Given the description of an element on the screen output the (x, y) to click on. 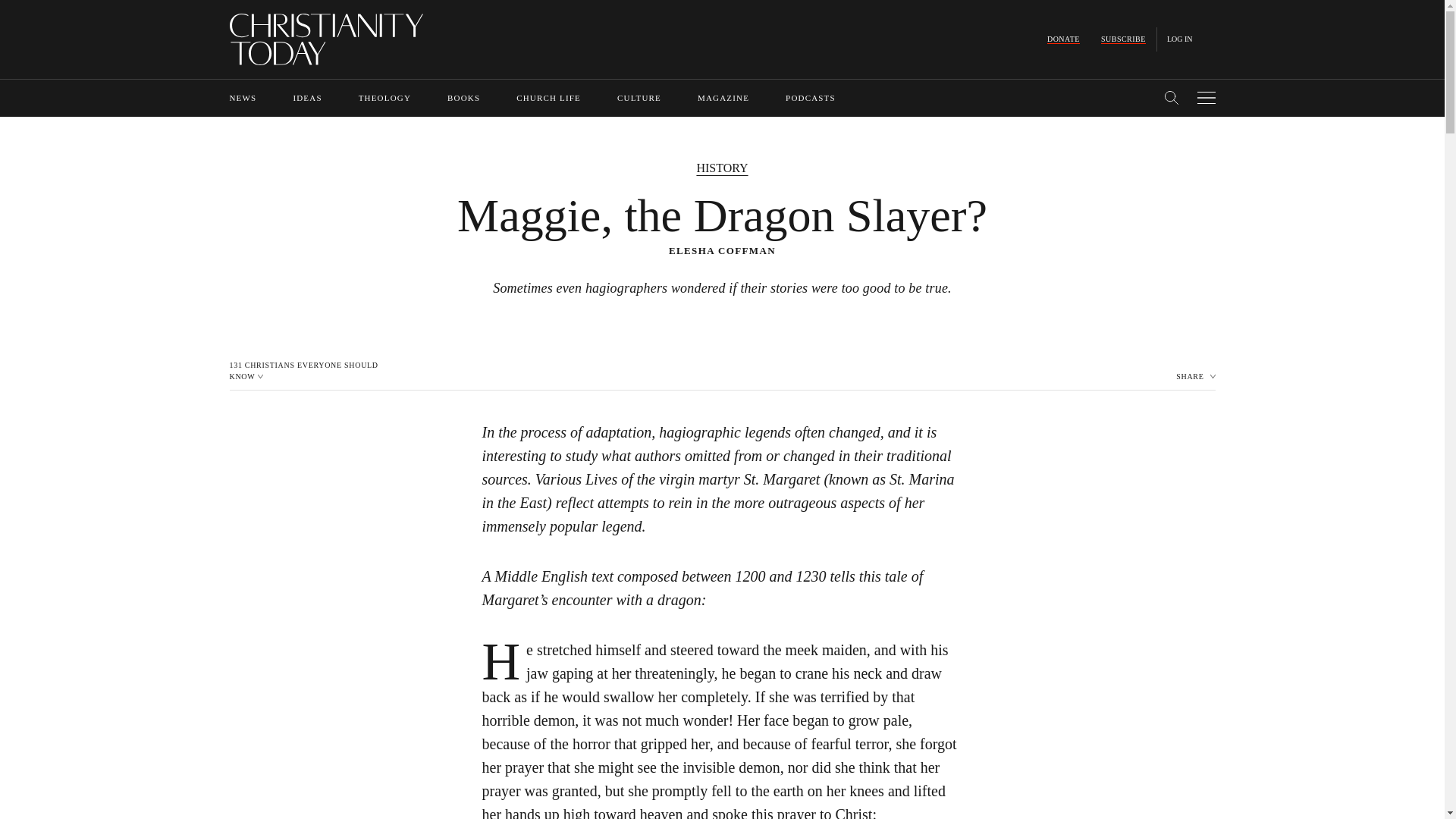
PODCASTS (810, 97)
SUBSCRIBE (1122, 39)
LOG IN (1179, 39)
CHURCH LIFE (548, 97)
MAGAZINE (723, 97)
BOOKS (463, 97)
IDEAS (306, 97)
THEOLOGY (384, 97)
DONATE (1063, 39)
CULTURE (639, 97)
